Given the description of an element on the screen output the (x, y) to click on. 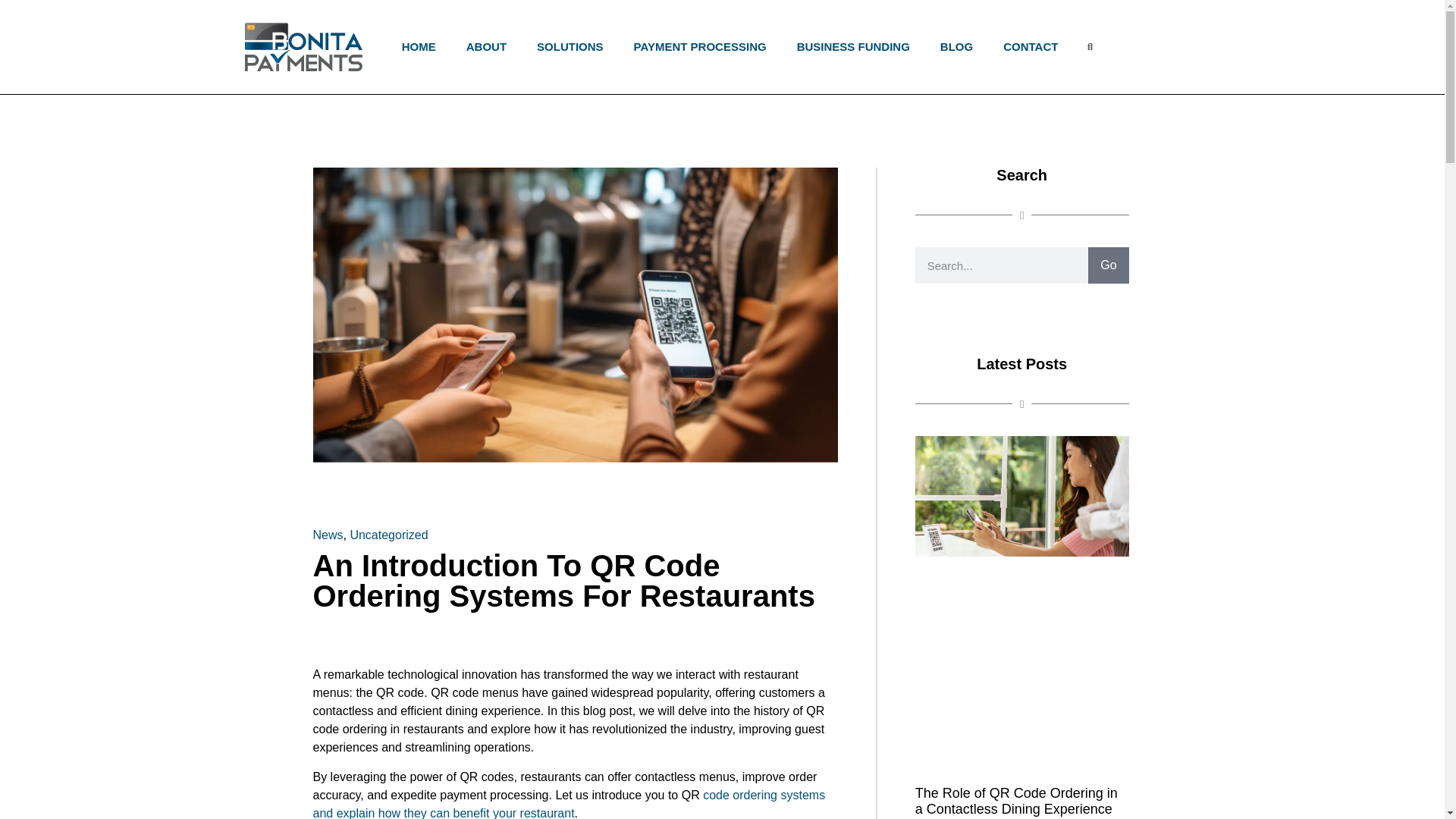
Go (1022, 283)
Go (1107, 265)
News (327, 534)
An Introduction To QR Code Ordering Systems For Restaurants (575, 586)
HOME (419, 46)
BUSINESS FUNDING (853, 46)
BLOG (956, 46)
CONTACT (1030, 46)
ABOUT (486, 46)
News, Uncategorized (370, 535)
Uncategorized (388, 534)
PAYMENT PROCESSING (699, 46)
Search (1022, 174)
